Given the description of an element on the screen output the (x, y) to click on. 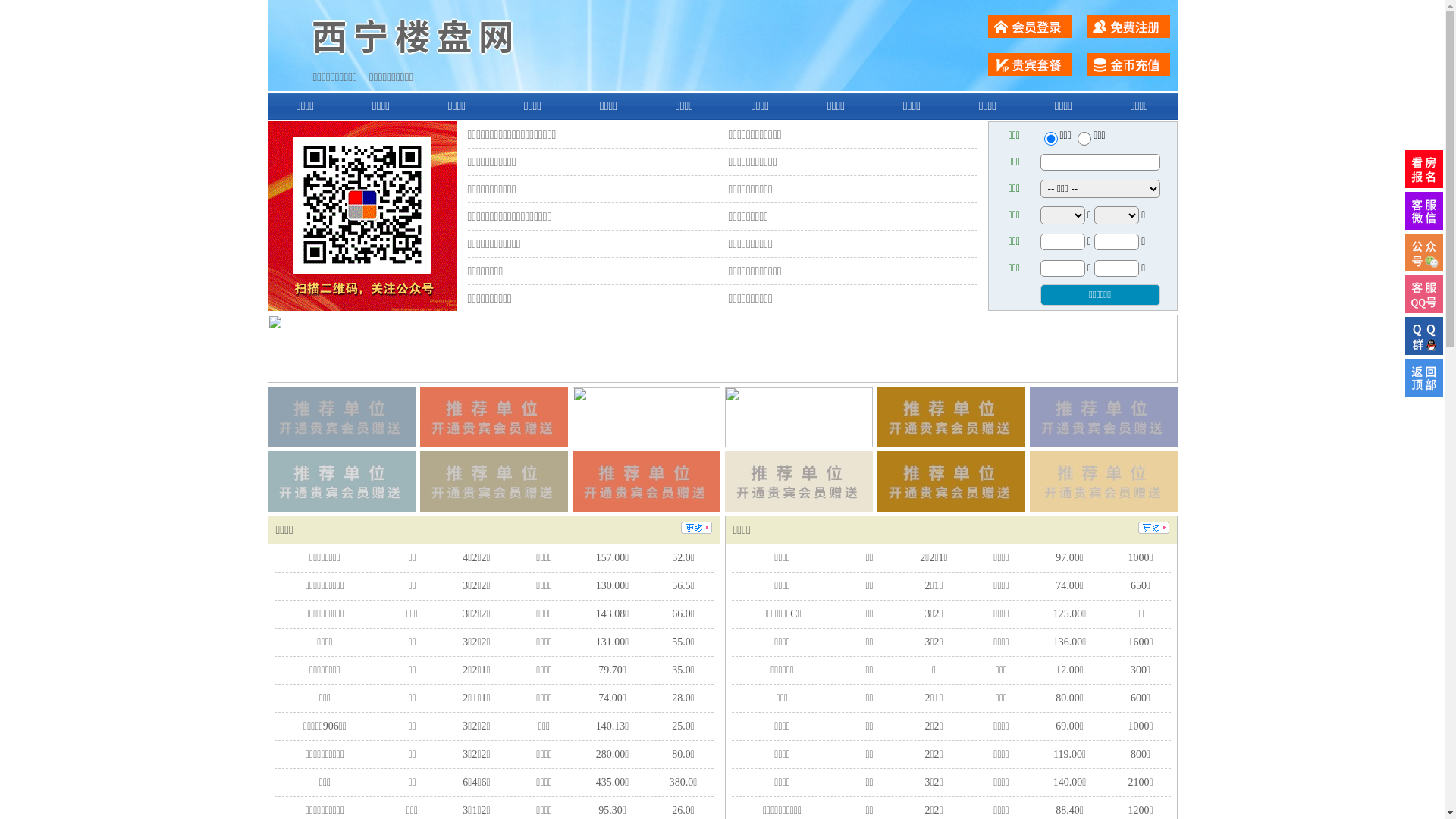
chuzu Element type: text (1084, 138)
ershou Element type: text (1050, 138)
